Given the description of an element on the screen output the (x, y) to click on. 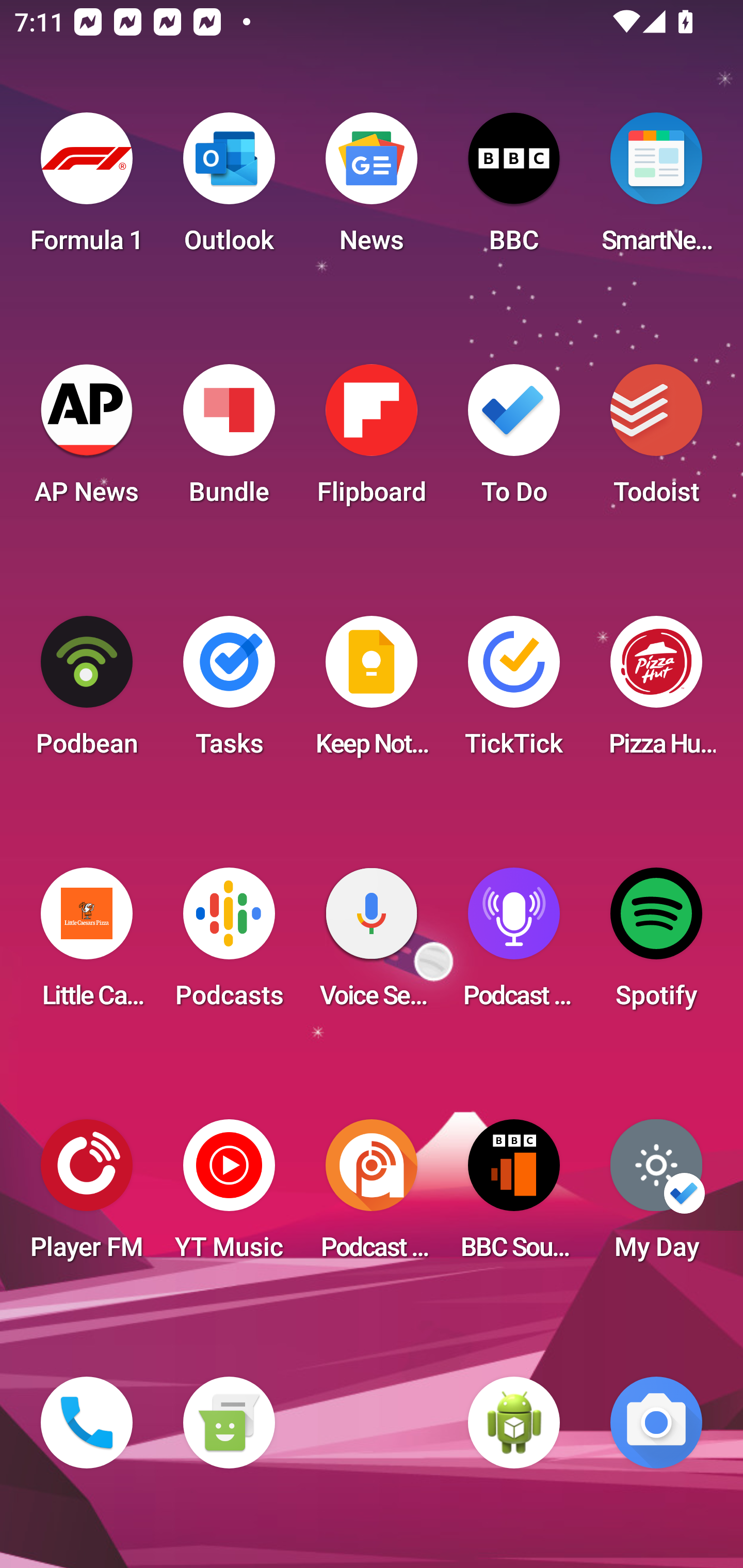
Formula 1 (86, 188)
Outlook (228, 188)
News (371, 188)
BBC (513, 188)
SmartNews (656, 188)
AP News (86, 440)
Bundle (228, 440)
Flipboard (371, 440)
To Do (513, 440)
Todoist (656, 440)
Podbean (86, 692)
Tasks (228, 692)
Keep Notes (371, 692)
TickTick (513, 692)
Pizza Hut HK & Macau (656, 692)
Little Caesars Pizza (86, 943)
Podcasts (228, 943)
Voice Search (371, 943)
Podcast Player (513, 943)
Spotify (656, 943)
Player FM (86, 1195)
YT Music (228, 1195)
Podcast Addict (371, 1195)
BBC Sounds (513, 1195)
My Day (656, 1195)
Phone (86, 1422)
Messaging (228, 1422)
WebView Browser Tester (513, 1422)
Camera (656, 1422)
